Given the description of an element on the screen output the (x, y) to click on. 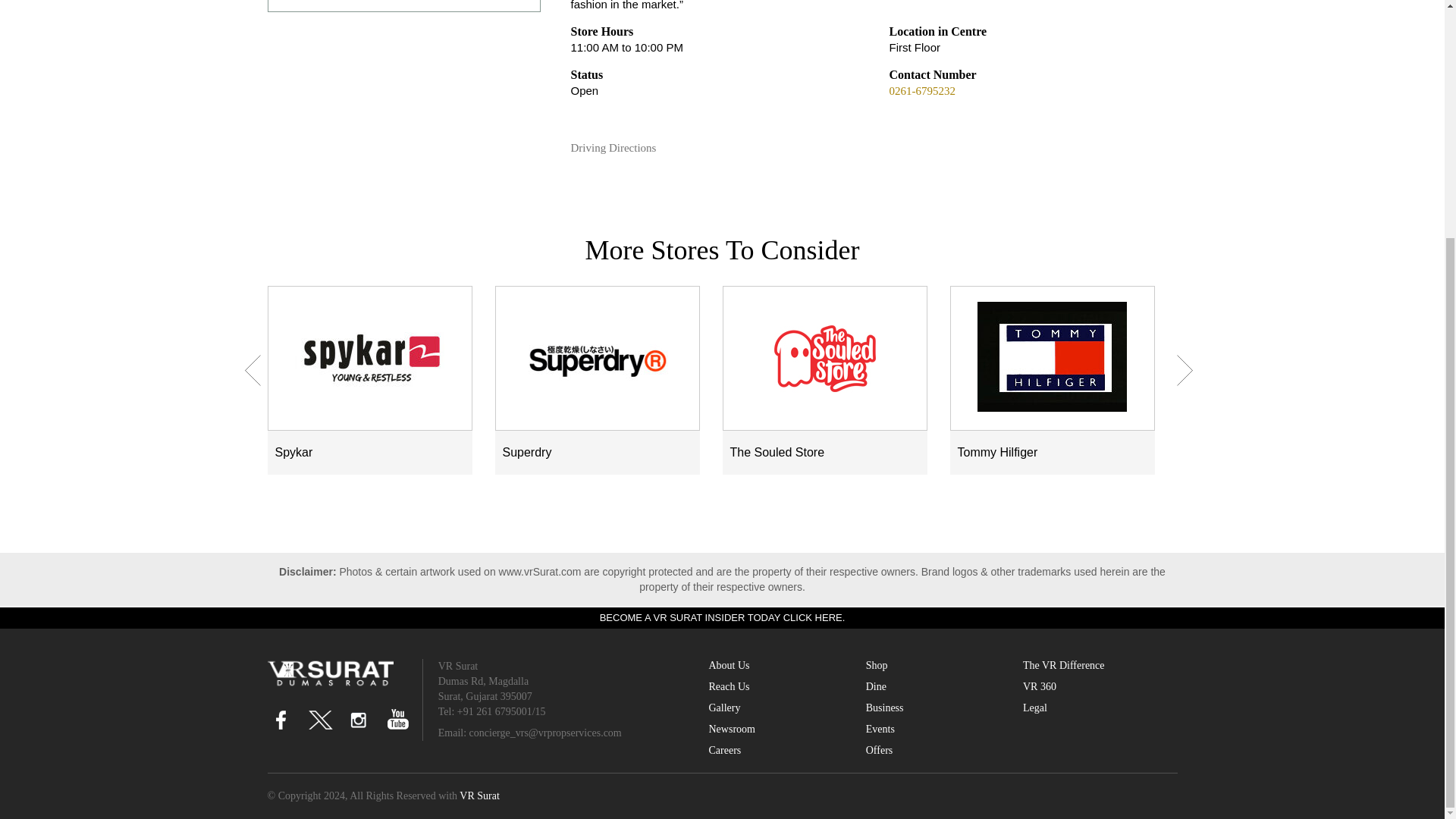
Spykar (369, 356)
0261-6795232 (921, 91)
Driving Directions (620, 147)
Pepe Jeans (402, 3)
Superdry (596, 356)
The Souled Store (824, 356)
Tommy Hilfiger (1051, 356)
VR Surat (329, 673)
